Given the description of an element on the screen output the (x, y) to click on. 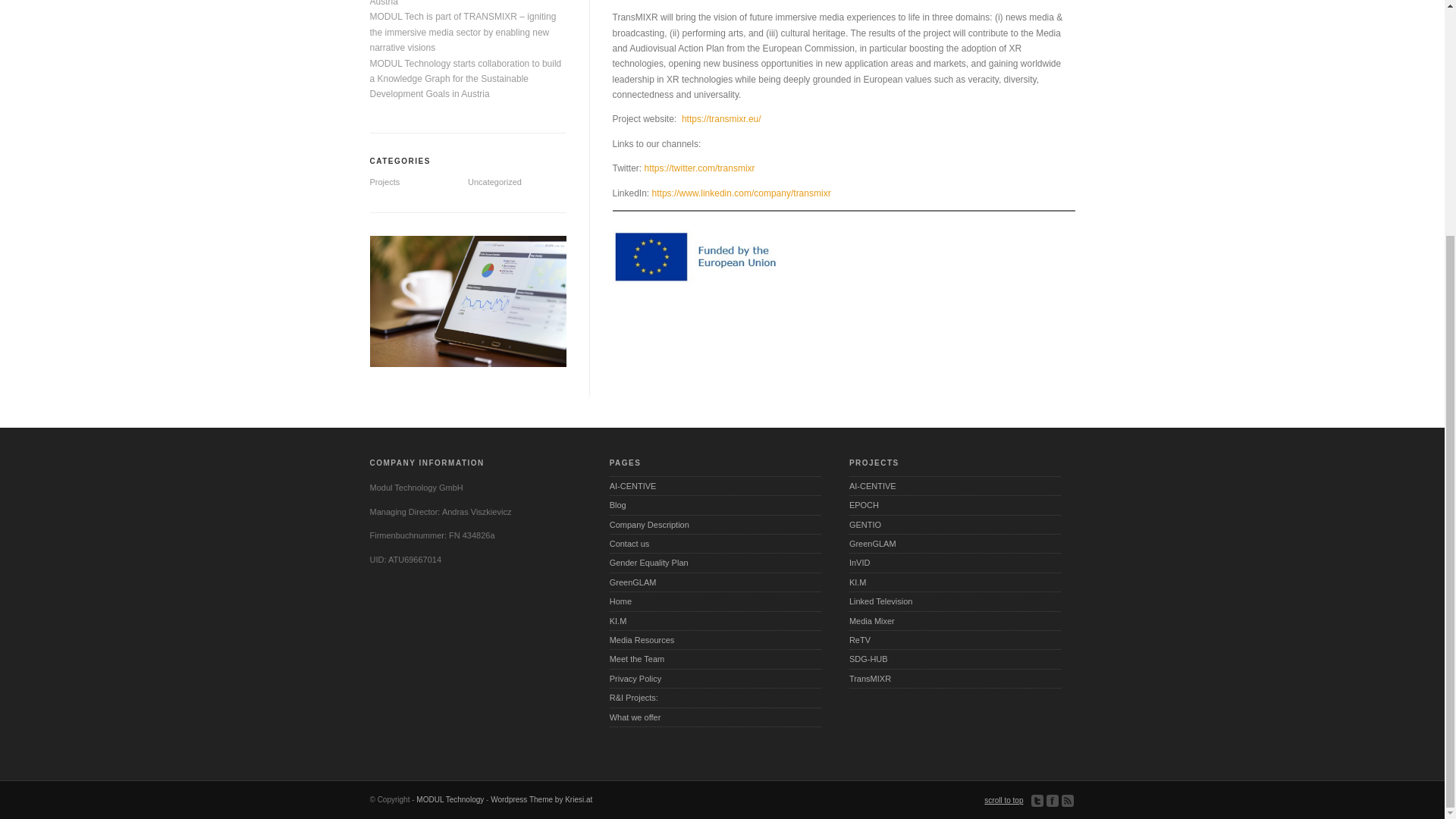
Gender Equality Plan (715, 562)
Uncategorized (494, 181)
Blog (715, 505)
AI-CENTIVE (715, 486)
Company Description (715, 524)
GreenGLAM (954, 543)
GreenGLAM (715, 582)
Media Resources (715, 640)
Home (715, 601)
Meet the Team (715, 659)
AI-CENTIVE (954, 486)
KI.M (715, 620)
What we offer (715, 717)
Privacy Policy (715, 678)
EPOCH (954, 505)
